Given the description of an element on the screen output the (x, y) to click on. 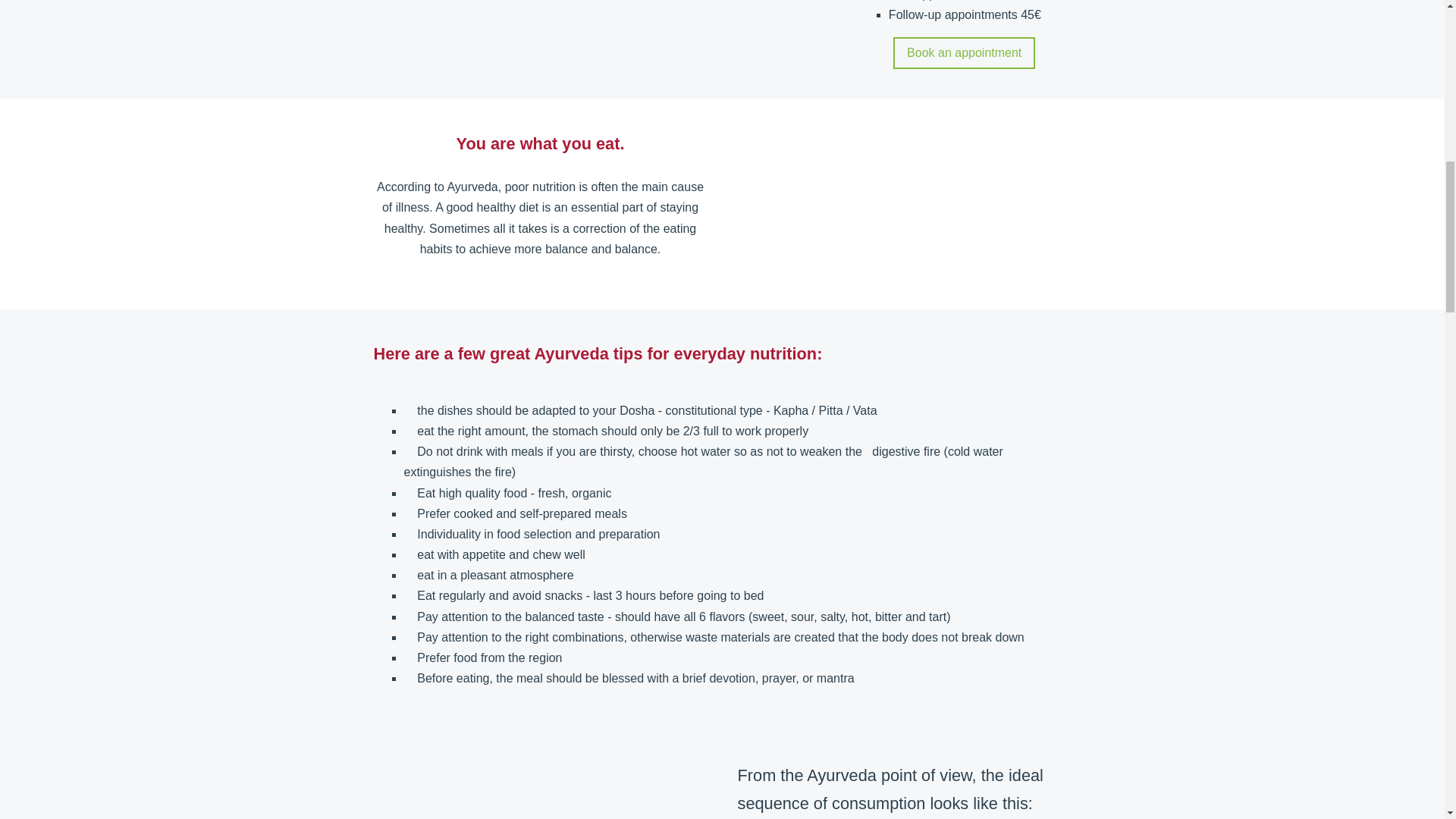
Book an appointment (964, 51)
